Given the description of an element on the screen output the (x, y) to click on. 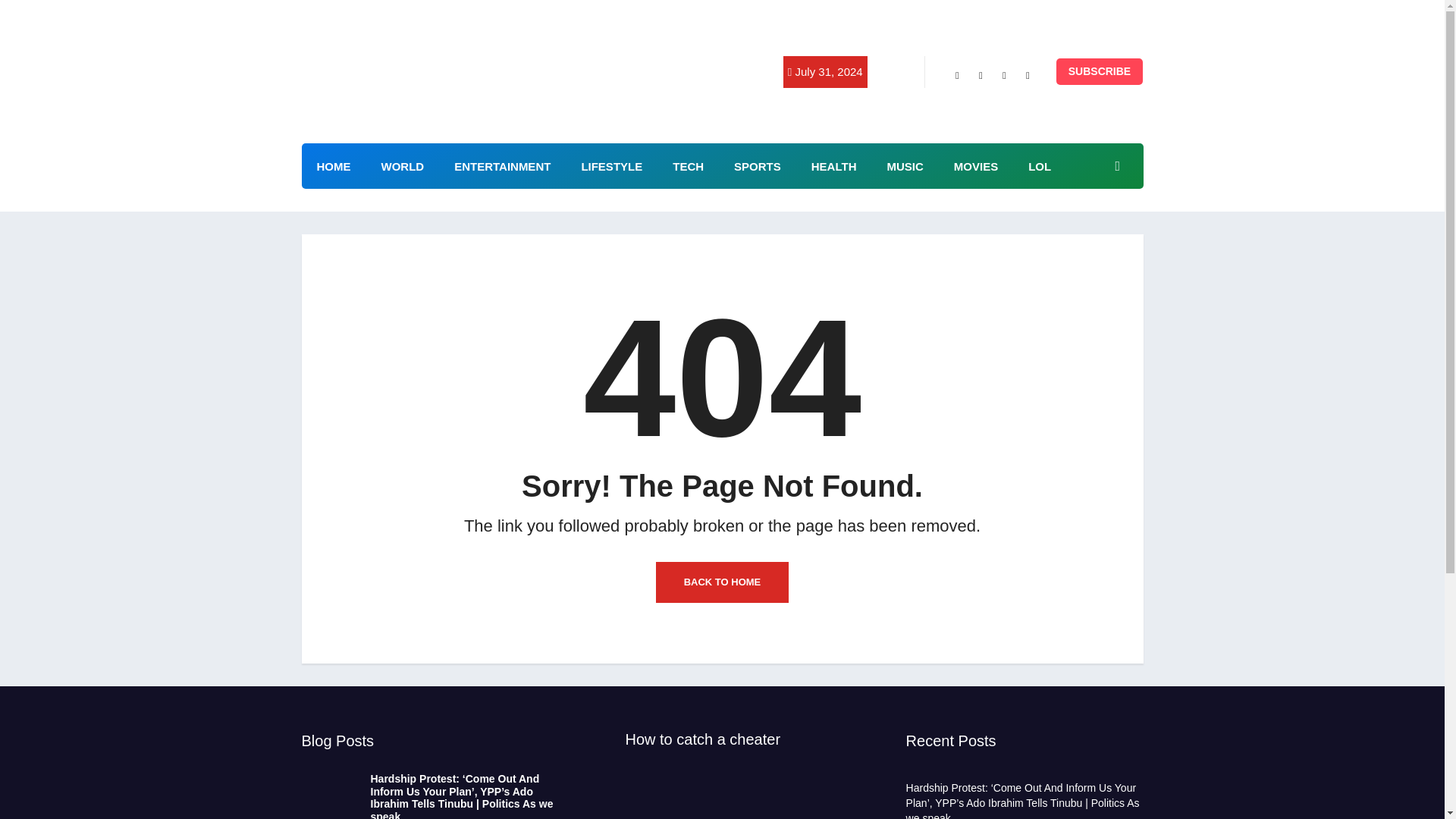
TECH (688, 166)
LOL (1039, 166)
BACK TO HOME (722, 581)
ENTERTAINMENT (502, 166)
SPORTS (757, 166)
LIFESTYLE (612, 166)
SUBSCRIBE (1099, 71)
WORLD (402, 166)
HEALTH (834, 166)
MUSIC (903, 166)
HOME (333, 166)
MOVIES (976, 166)
